Given the description of an element on the screen output the (x, y) to click on. 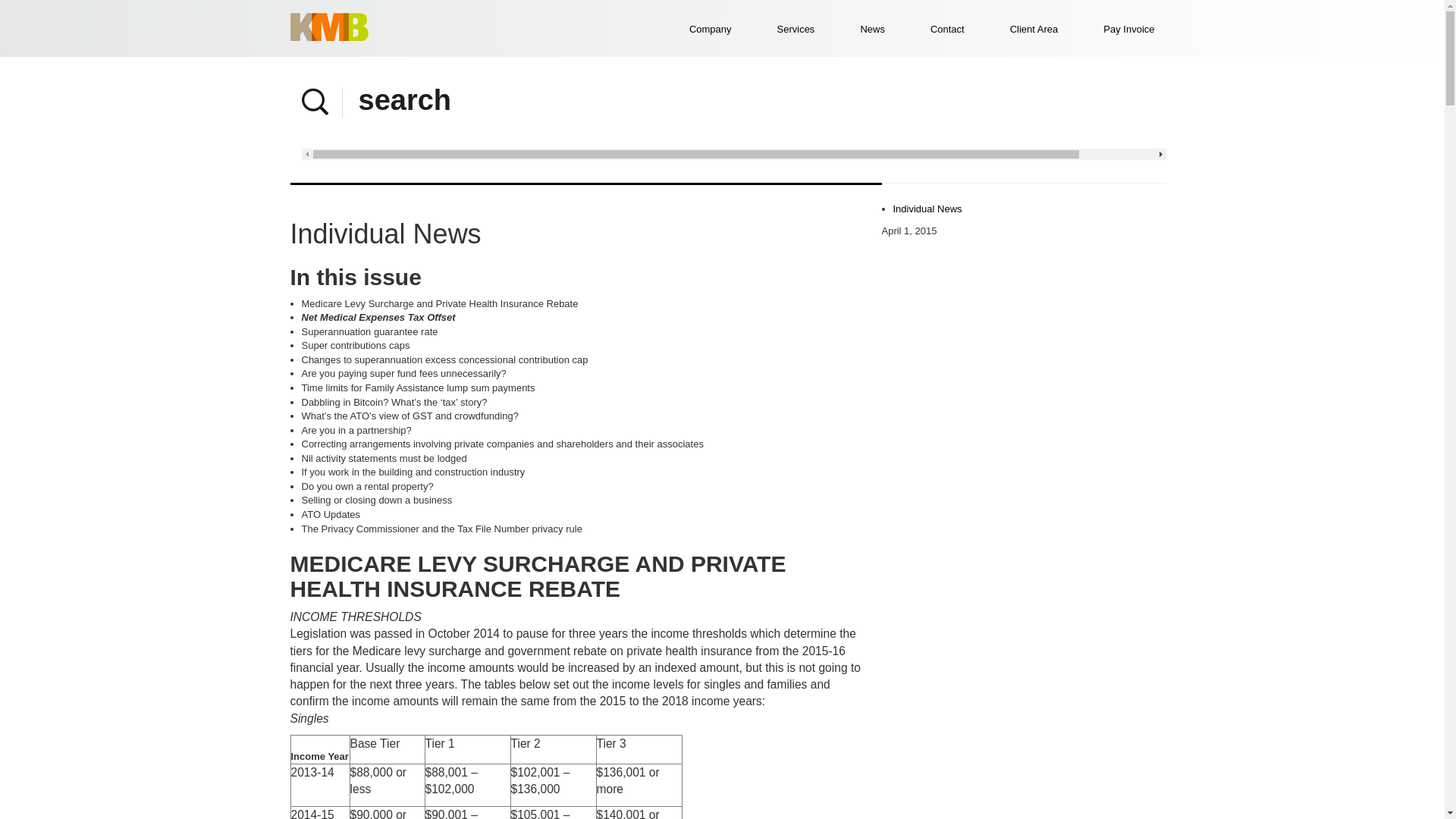
Contact Element type: text (947, 28)
Home Element type: text (106, 18)
News Element type: text (871, 28)
News Element type: text (106, 208)
Pay Invoice Element type: text (106, 170)
Individual News Element type: text (927, 208)
Services Element type: text (106, 94)
Company Element type: text (106, 56)
Pay Invoice Element type: text (1128, 28)
Client area Element type: text (106, 132)
Services Element type: text (796, 28)
Client Area Element type: text (1034, 28)
Company Element type: text (710, 28)
Contact Element type: text (106, 246)
